Given the description of an element on the screen output the (x, y) to click on. 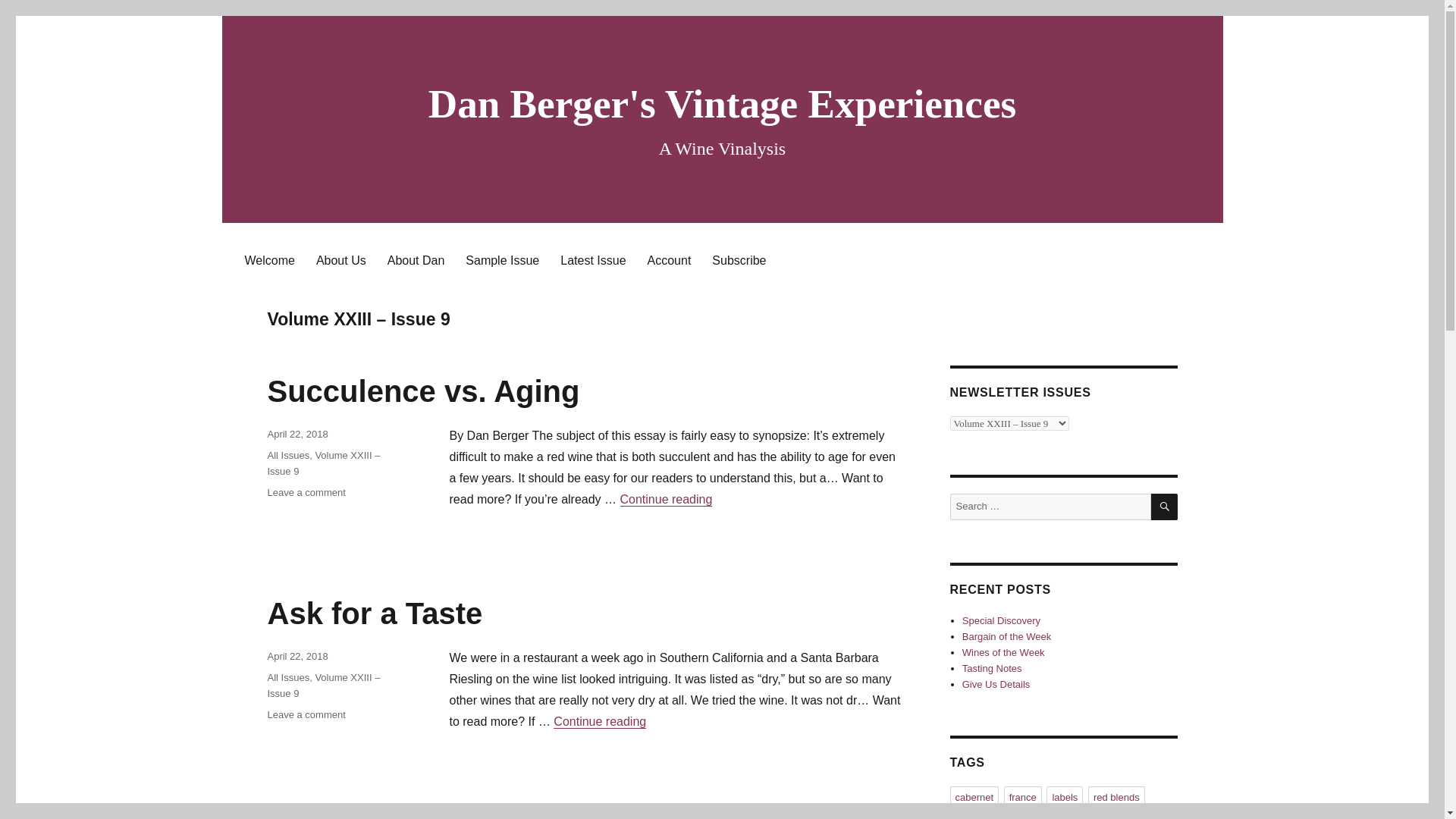
About Us (341, 260)
Account (305, 491)
Bargain of the Week (669, 260)
Welcome (1006, 636)
Latest Issue (268, 260)
Succulence vs. Aging (593, 260)
Ask for a Taste (422, 390)
About Dan (373, 613)
Tasting Notes (416, 260)
Special Discovery (992, 668)
Dan Berger's Vintage Experiences (1001, 620)
All Issues (722, 103)
Give Us Details (287, 455)
